Given the description of an element on the screen output the (x, y) to click on. 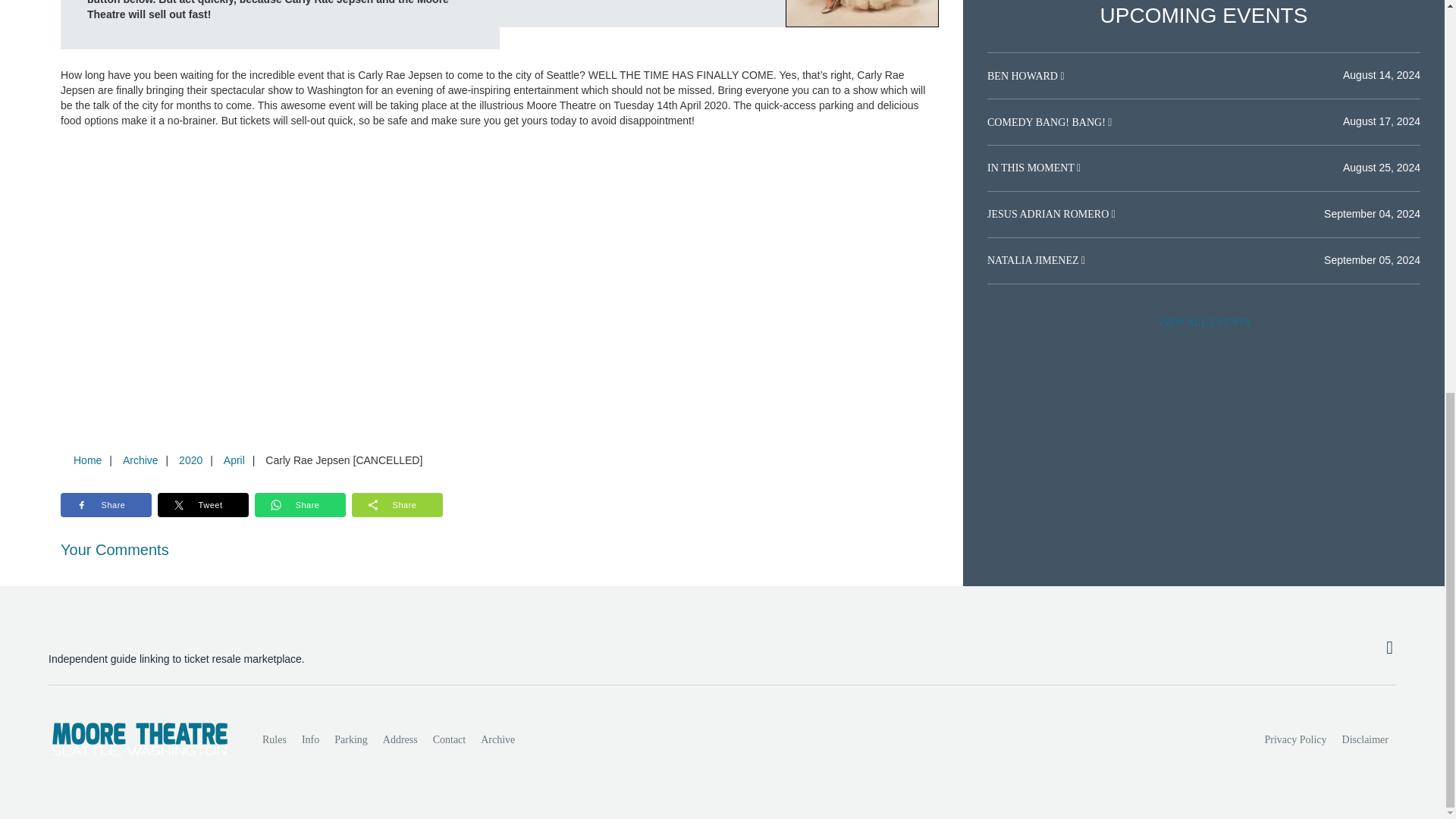
Info (310, 739)
COMEDY BANG! BANG! (1047, 121)
Archive (497, 739)
VIEW ALL EVENTS (1203, 322)
Disclaimer (1365, 739)
Home (87, 460)
2020 (190, 460)
JESUS ADRIAN ROMERO (1049, 214)
IN THIS MOMENT (1032, 167)
Contact (449, 739)
